Given the description of an element on the screen output the (x, y) to click on. 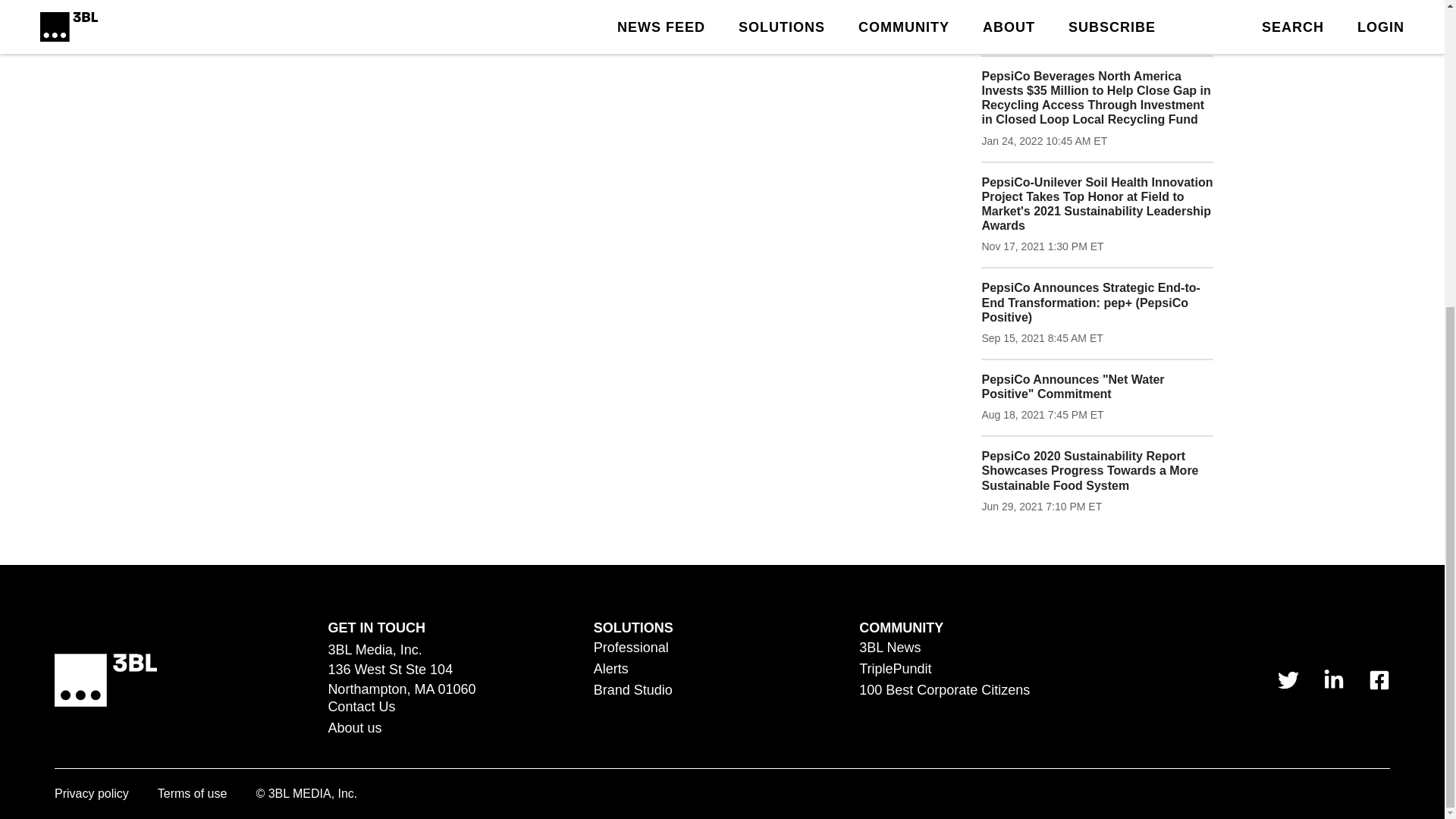
link to 3 B L Media's Linkedin (1333, 680)
link to 3 B L Media's Facebook (1379, 680)
link to 3 B L Media's Twitter (1288, 680)
